Given the description of an element on the screen output the (x, y) to click on. 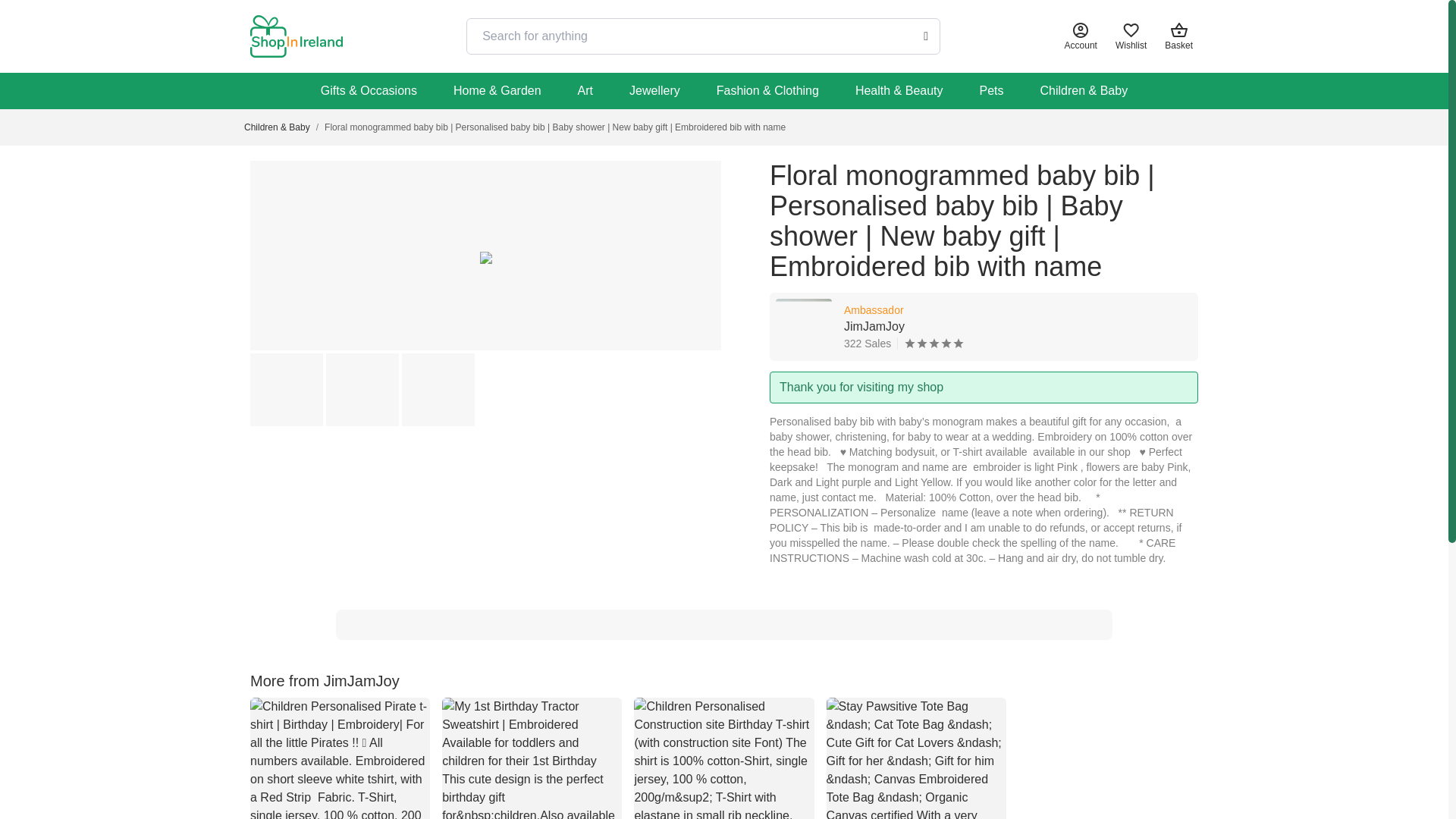
Pets (991, 90)
Art (984, 326)
Birthday T-shirt for Children Personalised Construction site (585, 90)
Wishlist (723, 758)
Basket (1131, 36)
Account (1181, 36)
Jewellery (1080, 36)
